Given the description of an element on the screen output the (x, y) to click on. 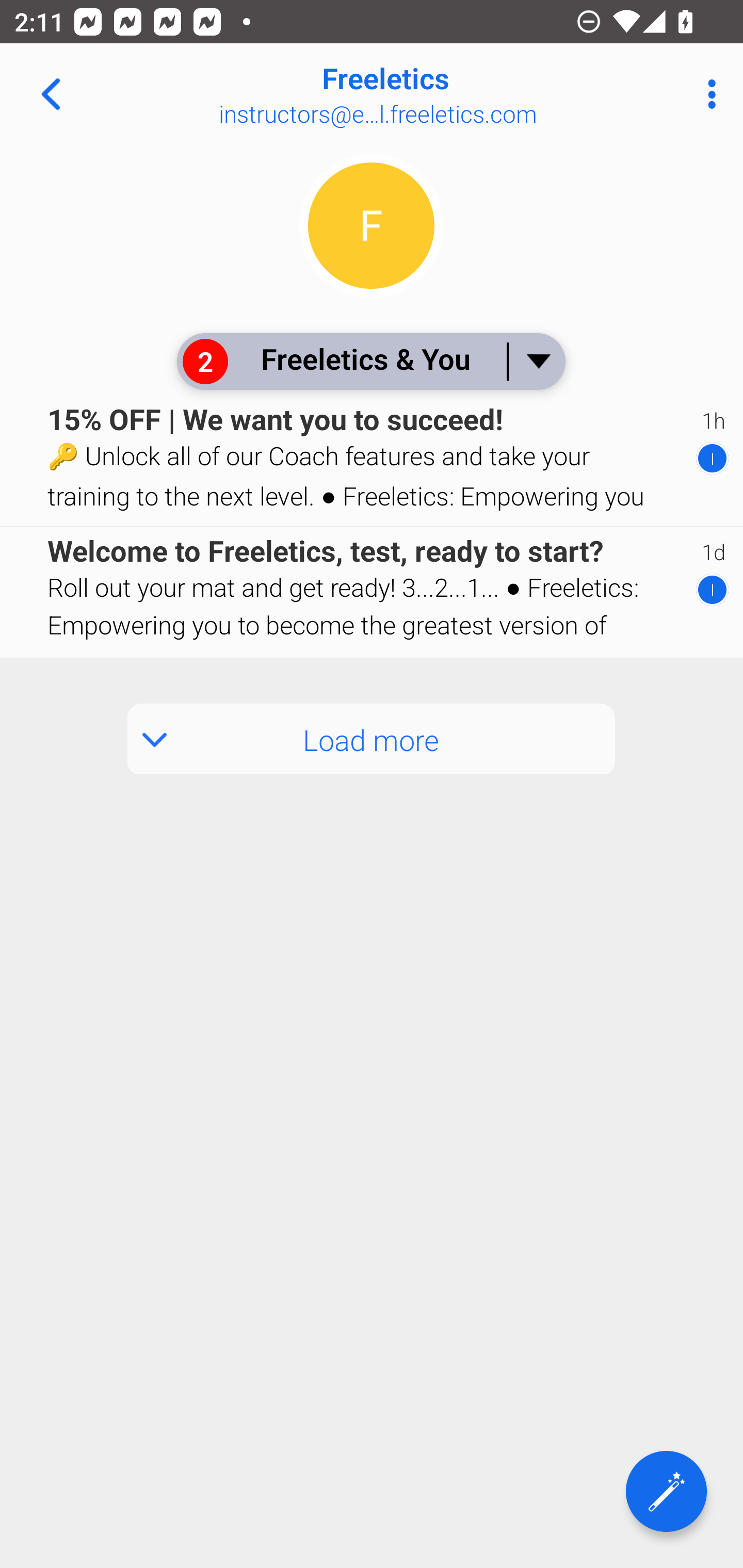
Navigate up (50, 93)
Freeletics instructors@email.freeletics.com (436, 93)
More Options (706, 93)
2 Freeletics & You (370, 361)
Load more (371, 739)
